Given the description of an element on the screen output the (x, y) to click on. 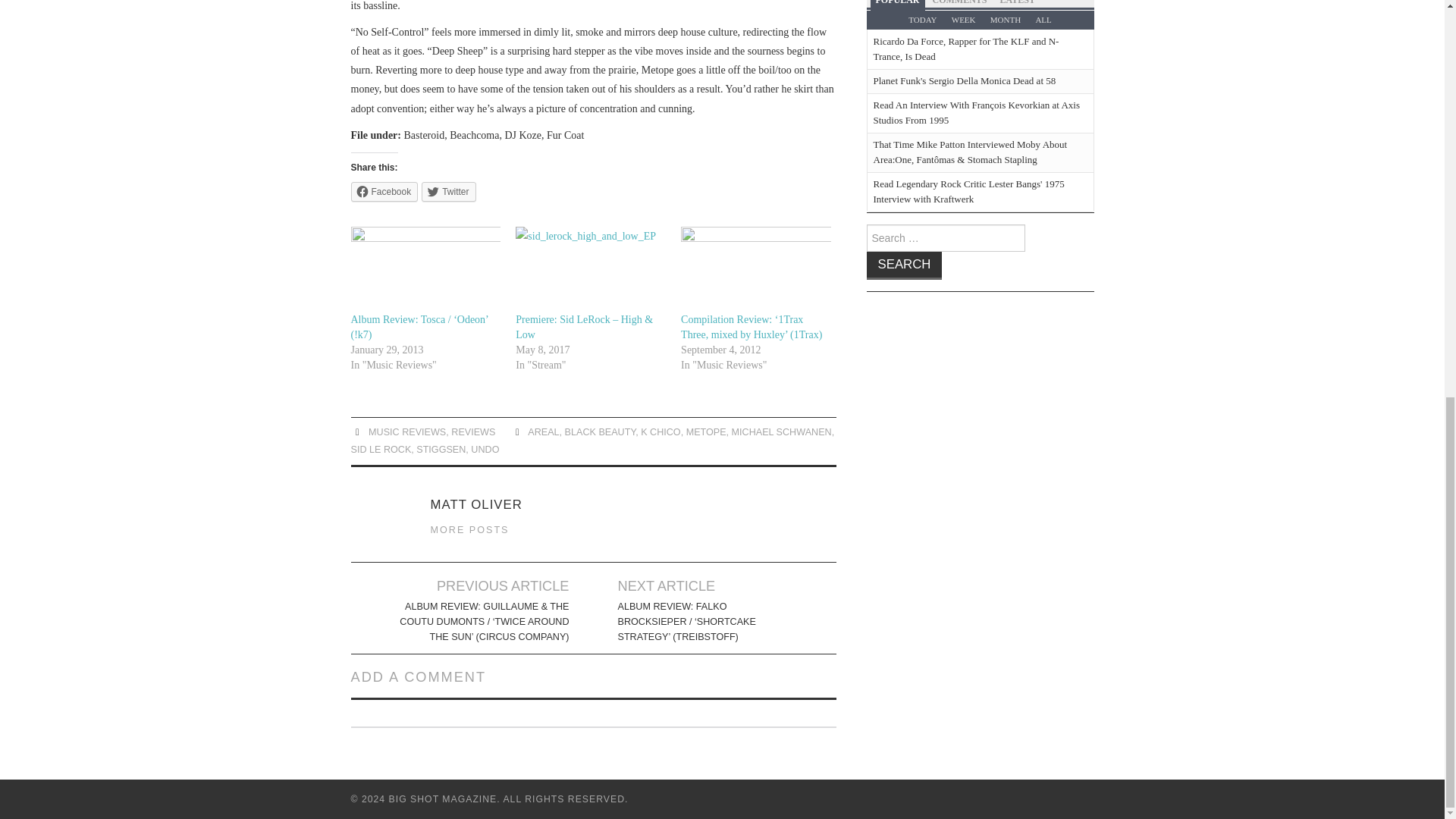
METOPE (705, 431)
MICHAEL SCHWANEN (781, 431)
SID LE ROCK (380, 449)
Click to share on Twitter (449, 191)
Click to share on Facebook (383, 191)
Search (904, 265)
Search (904, 265)
BLACK BEAUTY (600, 431)
AREAL (543, 431)
